Given the description of an element on the screen output the (x, y) to click on. 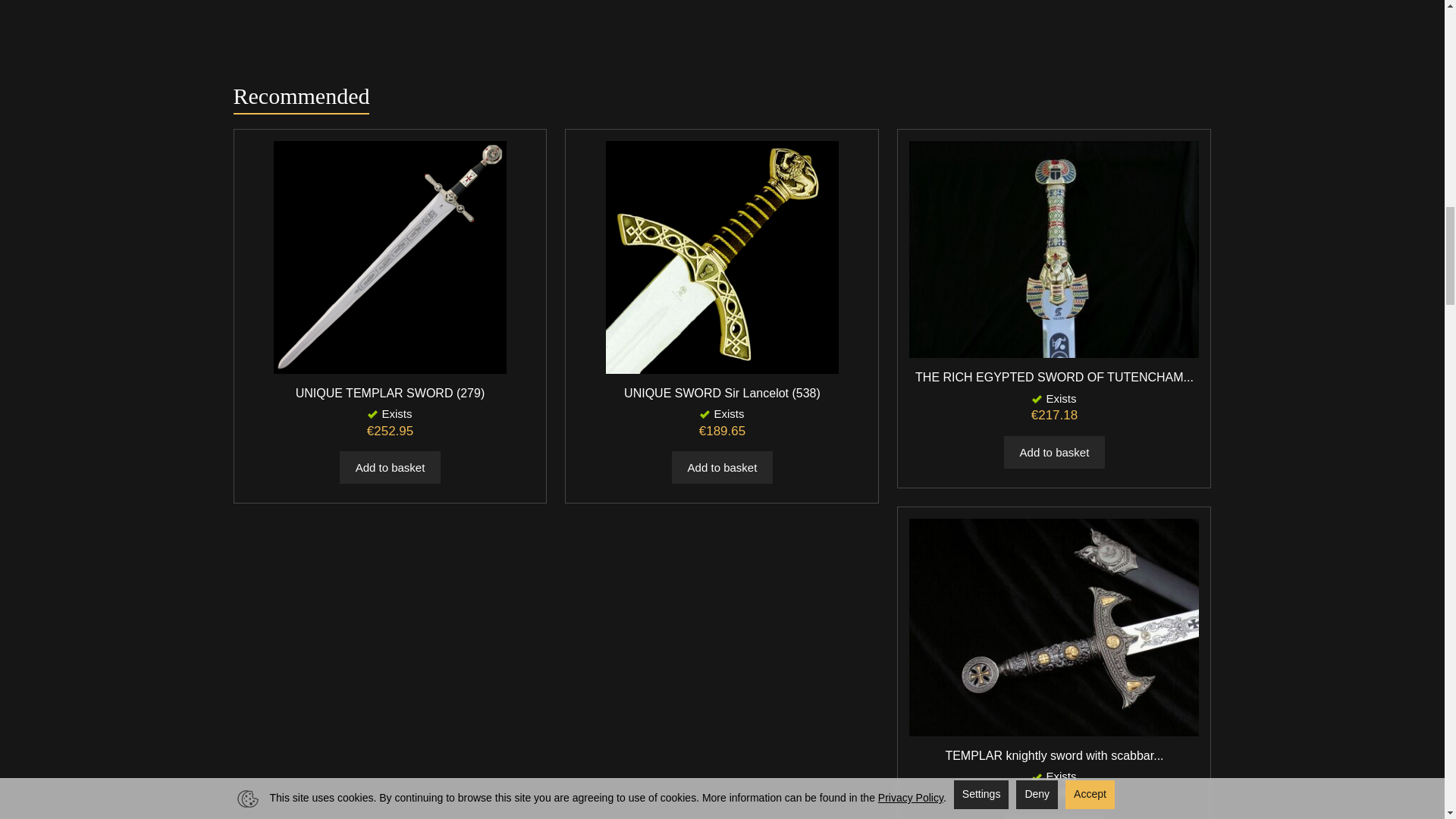
THE RICH EGYPTED SWORD OF TUTENCHAMON 204 (1054, 377)
TEMPLAR knightly sword with scabbard JT6136SU MEGA HIT (1053, 755)
